Given the description of an element on the screen output the (x, y) to click on. 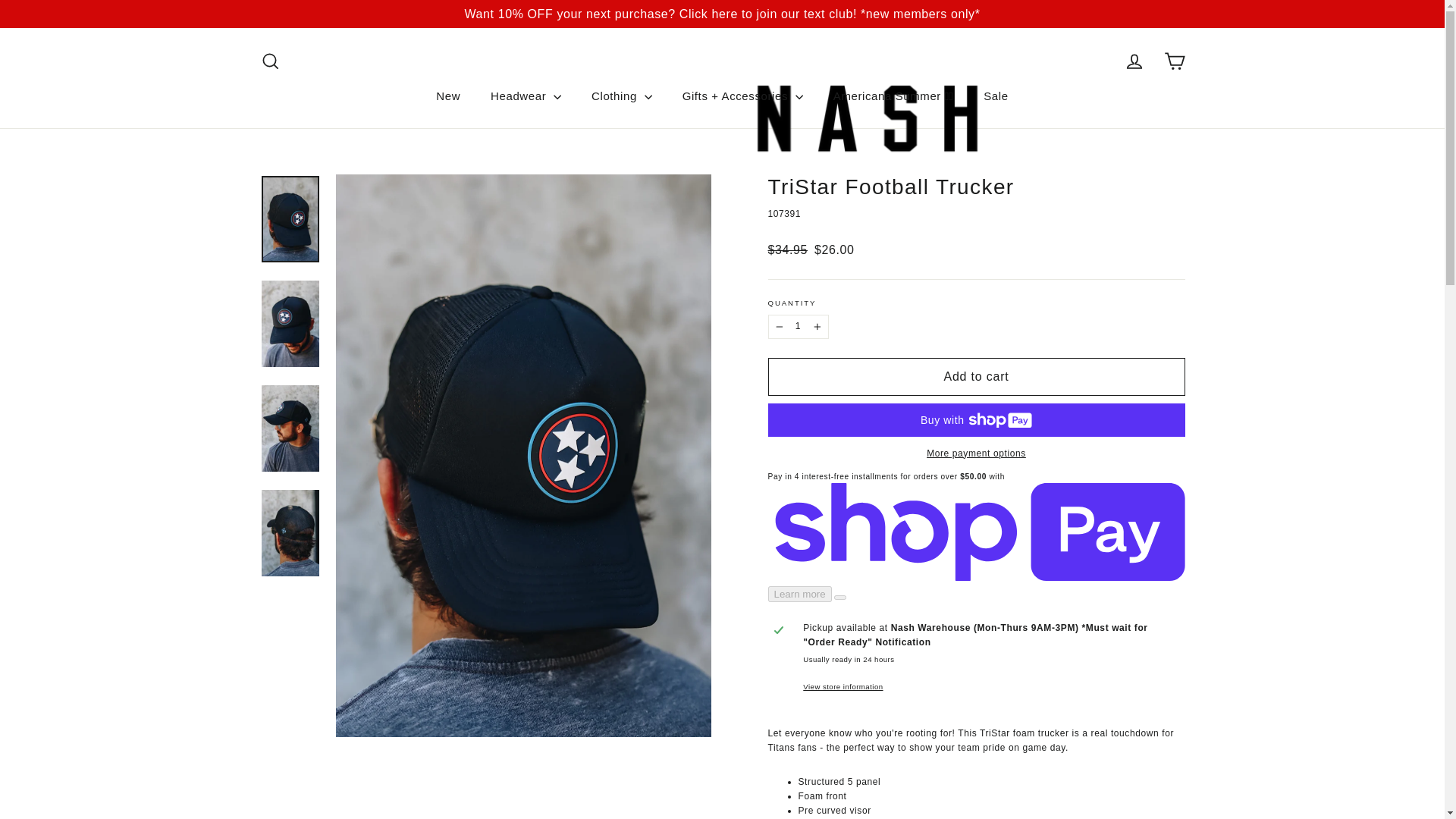
1 (797, 326)
icon-cart (1174, 61)
account (1134, 61)
icon-search (270, 61)
